Given the description of an element on the screen output the (x, y) to click on. 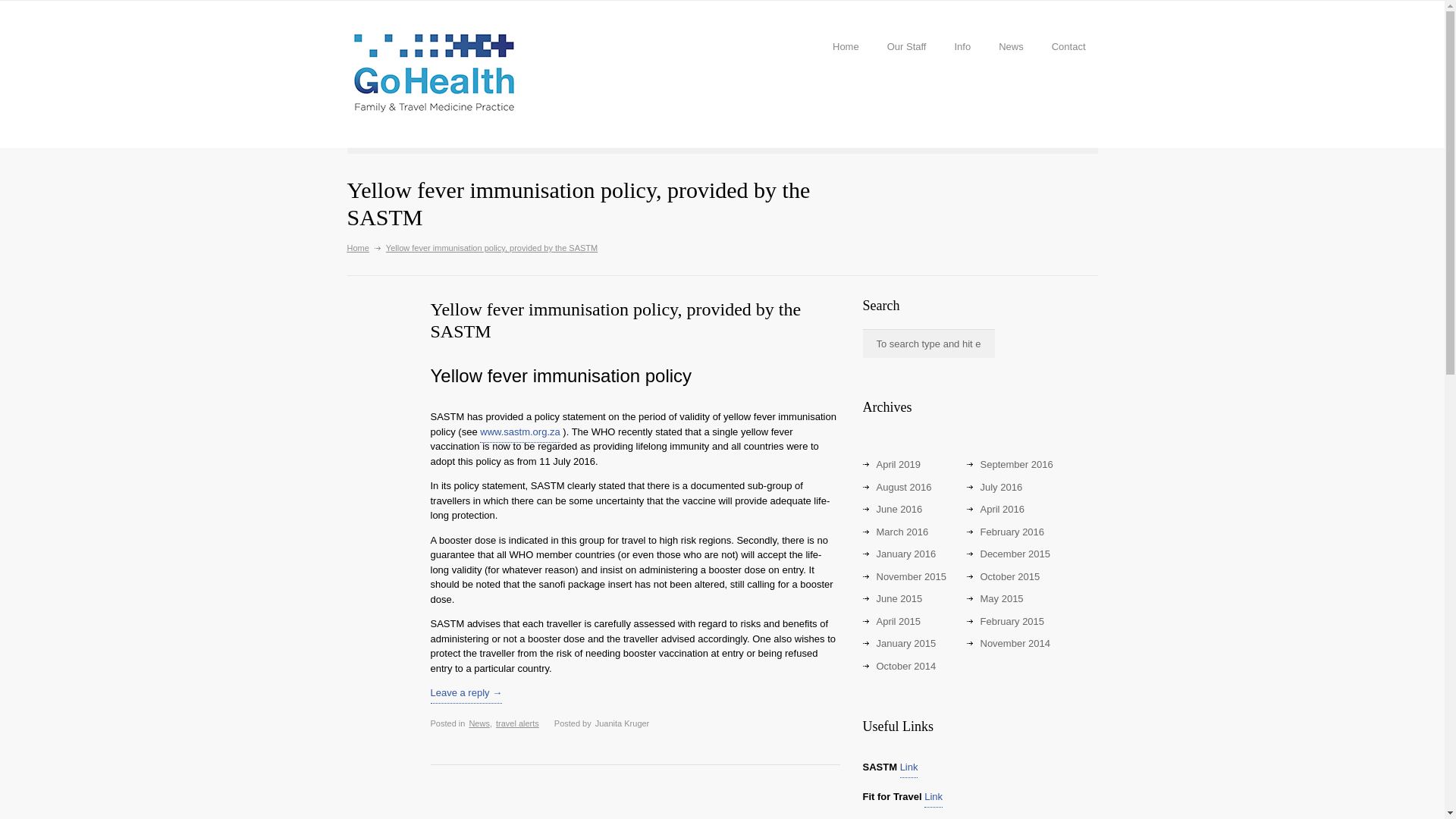
January 2015 (906, 645)
August 2016 (903, 488)
April 2016 (1002, 511)
To search type and hit enter... (928, 343)
Link (933, 798)
Yellow fever immunisation policy, provided by the SASTM (616, 322)
News (478, 725)
October 2014 (906, 667)
November 2014 (1014, 645)
June 2016 (899, 511)
